Given the description of an element on the screen output the (x, y) to click on. 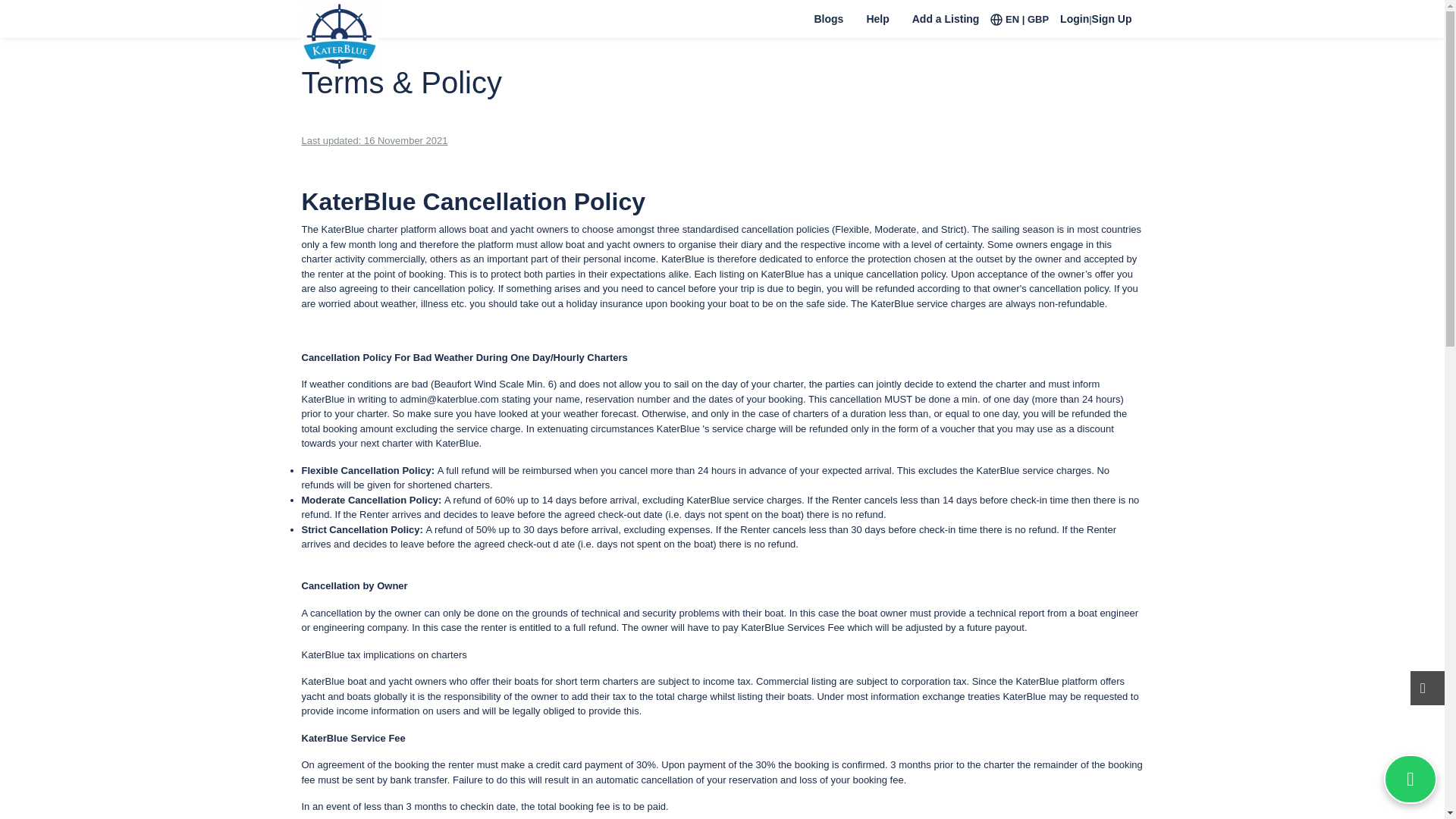
Blogs (828, 27)
Add a Listing (946, 27)
Sign Up (1117, 27)
